Given the description of an element on the screen output the (x, y) to click on. 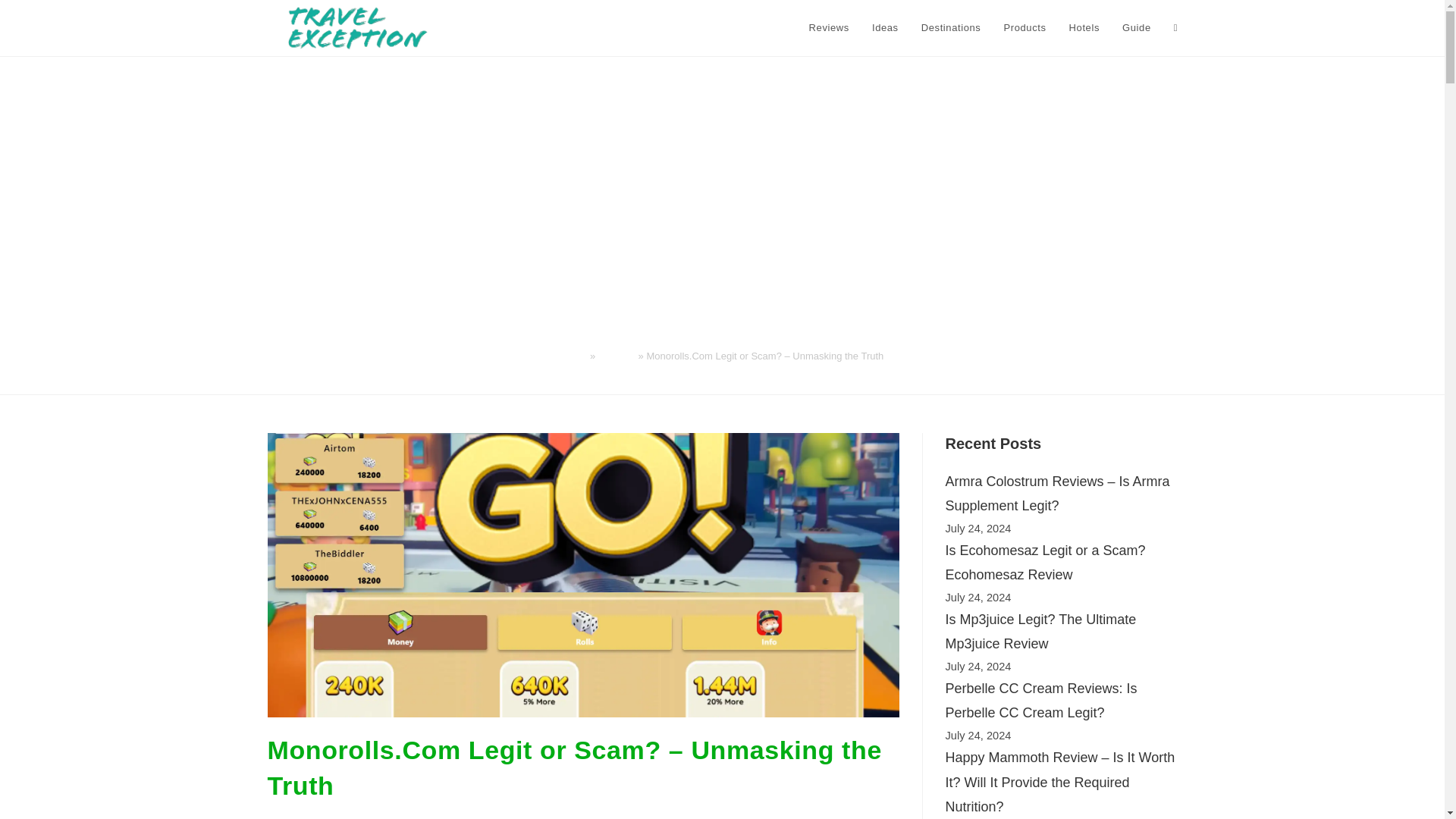
Destinations (951, 28)
Hotels (1084, 28)
Home (574, 355)
Reviews (616, 355)
Reviews (828, 28)
Products (1024, 28)
Guide (1135, 28)
